Given the description of an element on the screen output the (x, y) to click on. 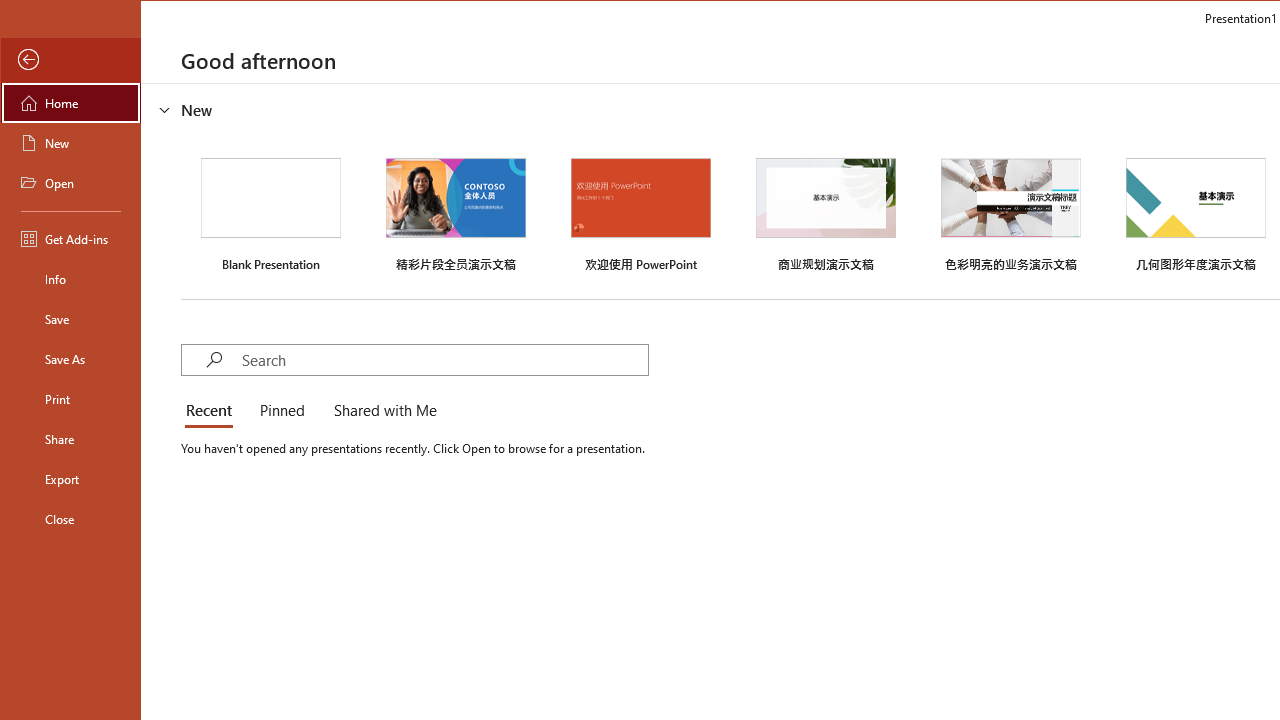
Pinned (281, 411)
New (70, 142)
Info (70, 278)
Save As (70, 358)
Print (70, 398)
Back (70, 60)
Get Add-ins (70, 238)
Export (70, 478)
Shared with Me (381, 411)
